Given the description of an element on the screen output the (x, y) to click on. 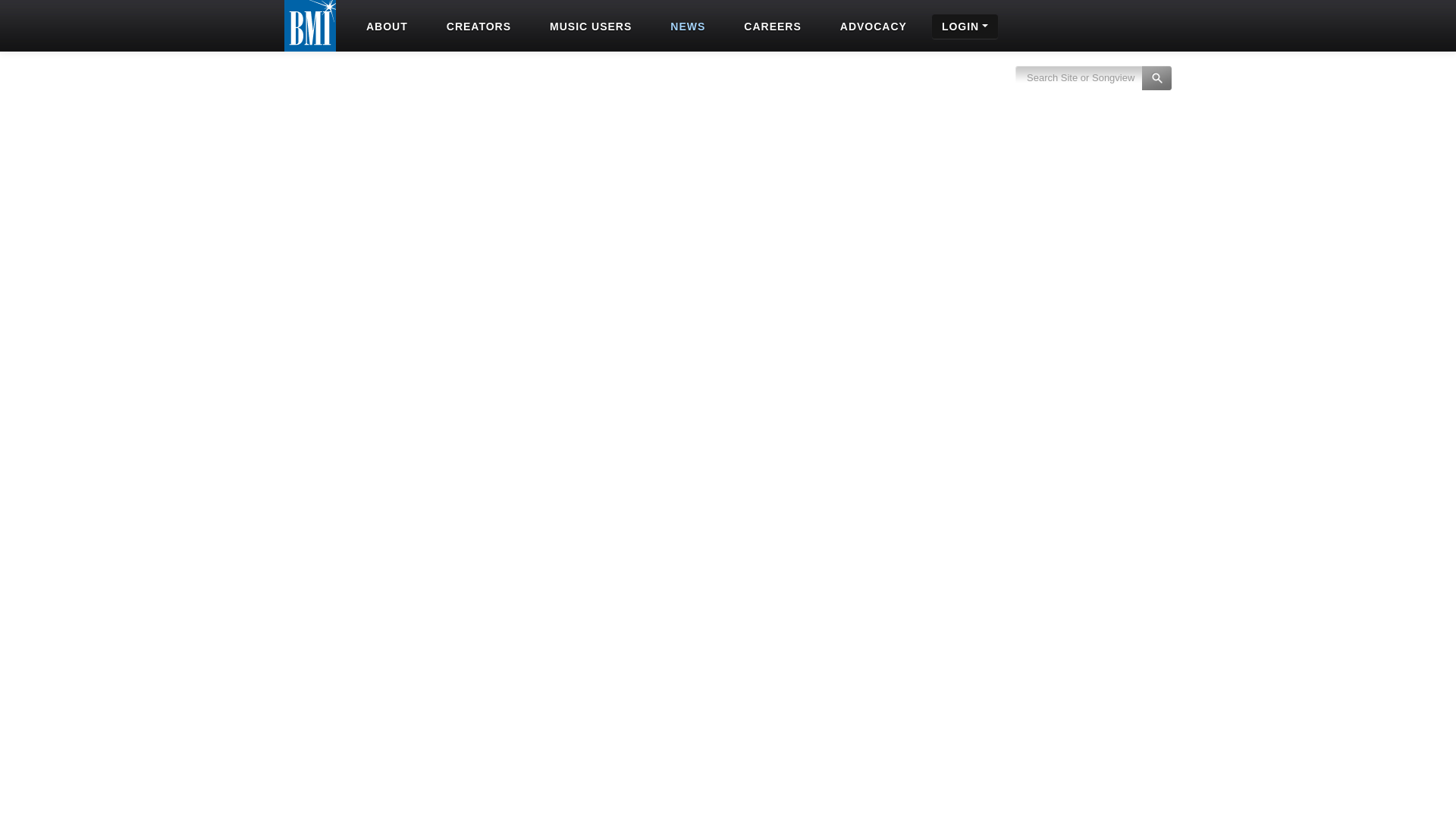
NEWS (685, 25)
CREATORS (477, 25)
clear results (1093, 87)
ABOUT (385, 25)
MUSIC USERS (587, 25)
ADVOCACY (871, 25)
CAREERS (770, 25)
